Given the description of an element on the screen output the (x, y) to click on. 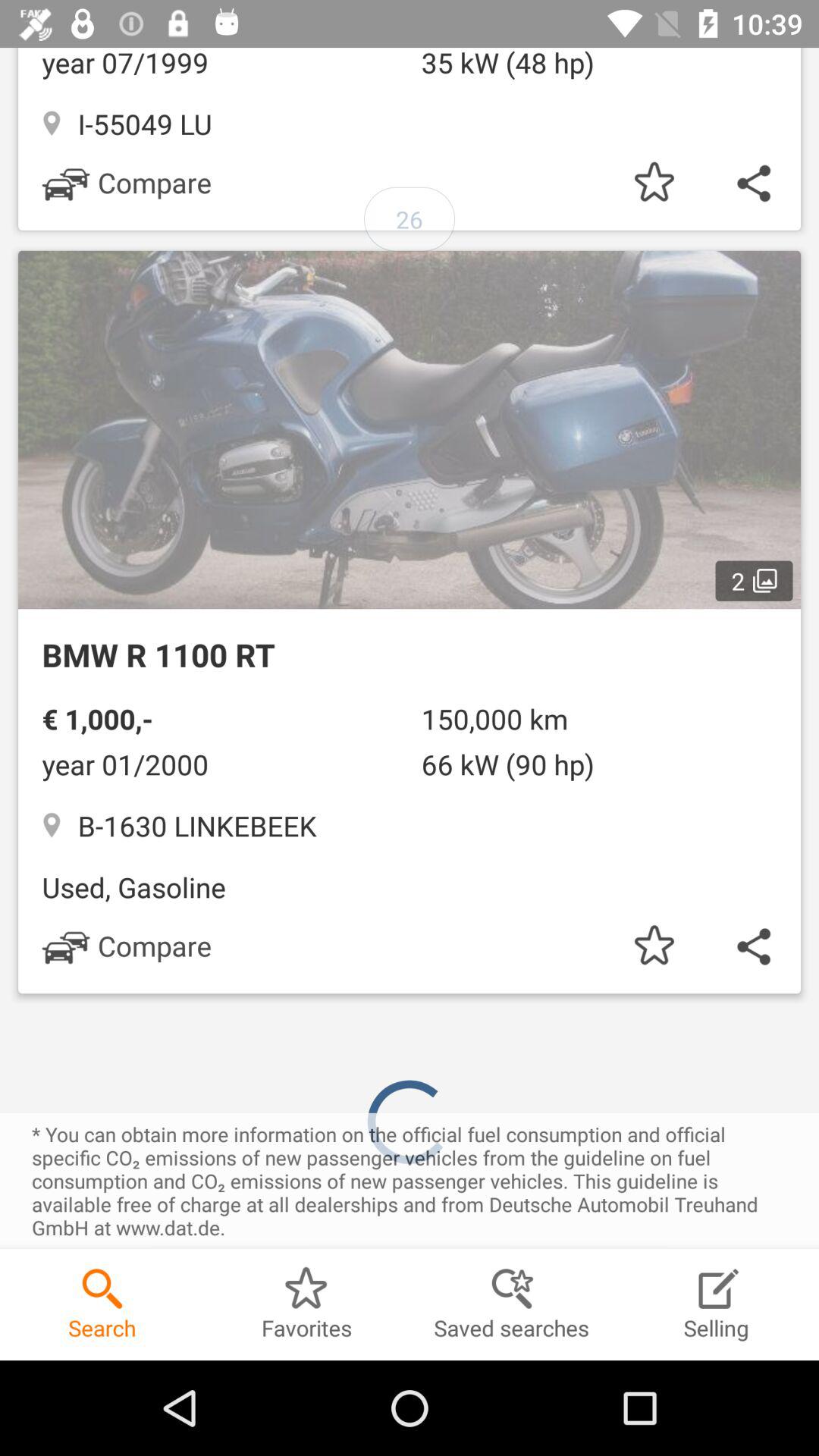
swipe until you can obtain icon (409, 1180)
